Given the description of an element on the screen output the (x, y) to click on. 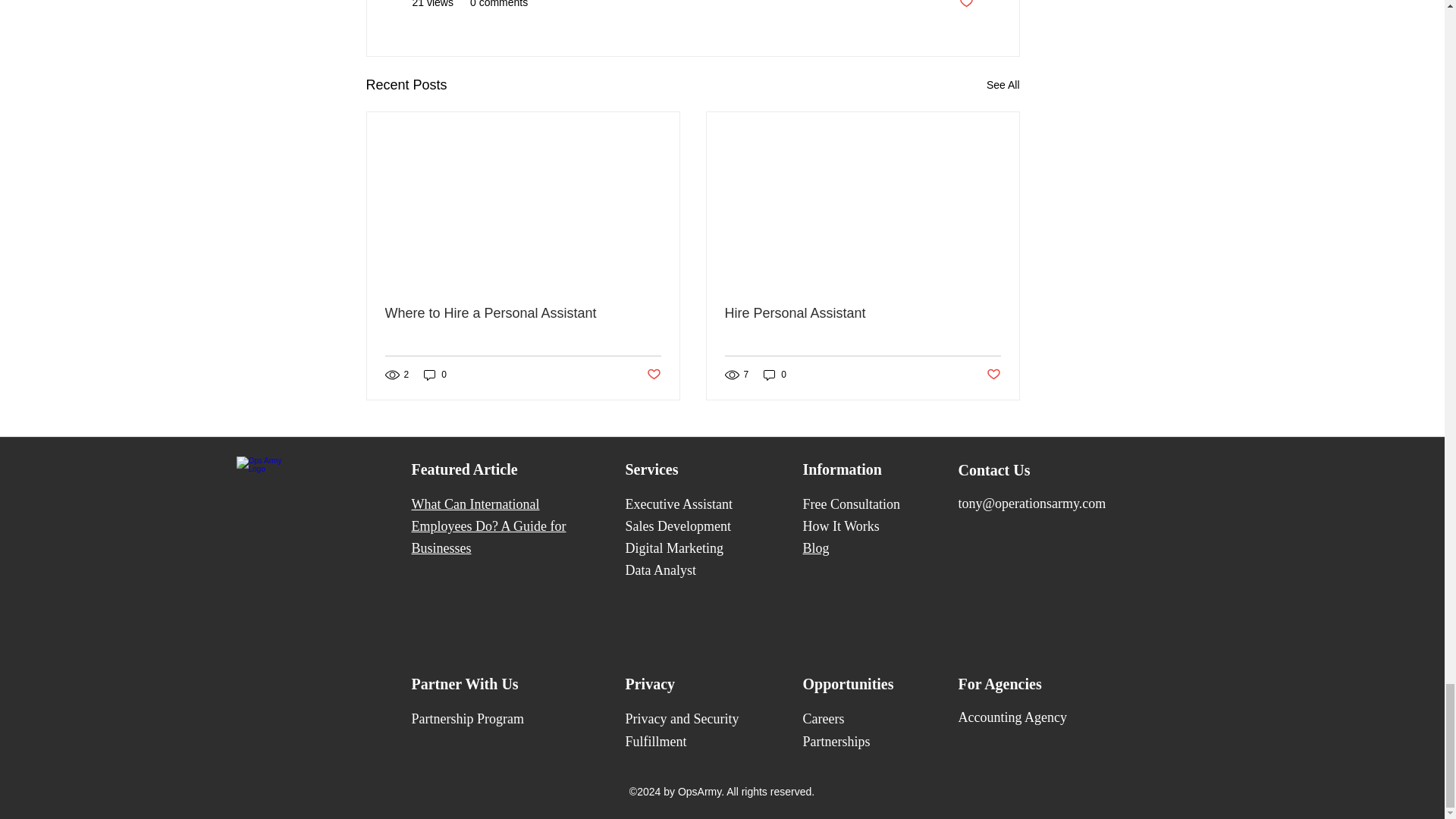
Post not marked as liked (965, 4)
Post not marked as liked (653, 374)
See All (1003, 85)
Hire Personal Assistant (863, 313)
0 (774, 374)
Post not marked as liked (992, 374)
0 (435, 374)
Where to Hire a Personal Assistant (523, 313)
